Given the description of an element on the screen output the (x, y) to click on. 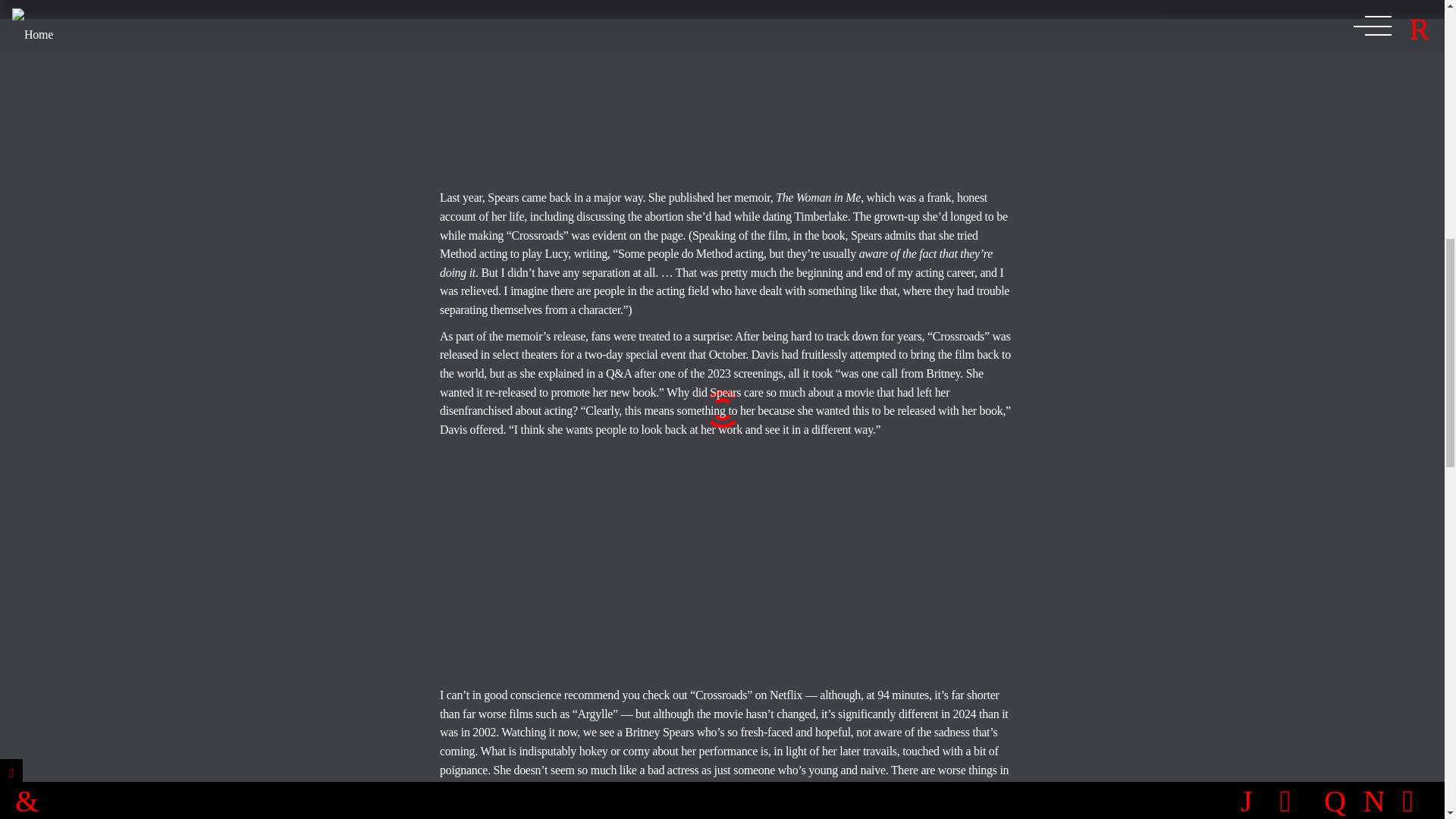
two-day special event that October (665, 354)
writing (590, 253)
Argylle (595, 713)
